Given the description of an element on the screen output the (x, y) to click on. 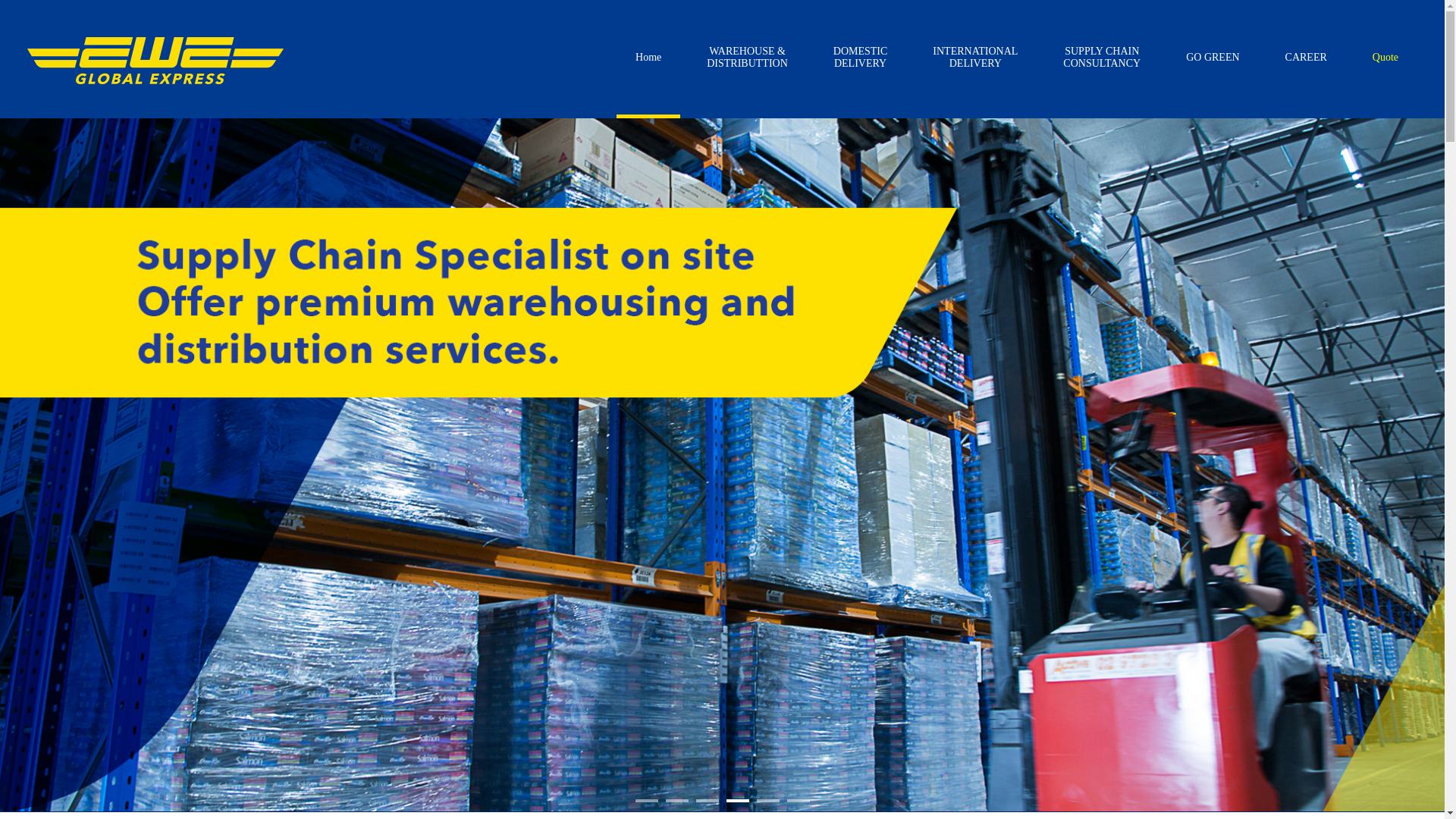
Home Element type: text (648, 59)
INTERNATIONAL
DELIVERY Element type: text (974, 59)
2 Element type: text (676, 800)
4 Element type: text (737, 800)
DOMESTIC
DELIVERY Element type: text (860, 59)
CAREER Element type: text (1306, 59)
WAREHOUSE &
DISTRIBUTTION Element type: text (746, 59)
1 Element type: text (646, 800)
3 Element type: text (707, 800)
Quote Element type: text (1385, 59)
5 Element type: text (767, 800)
6 Element type: text (798, 800)
SEND Element type: text (980, 693)
SUPPLY CHAIN
CONSULTANCY Element type: text (1101, 59)
GO GREEN Element type: text (1212, 59)
